Given the description of an element on the screen output the (x, y) to click on. 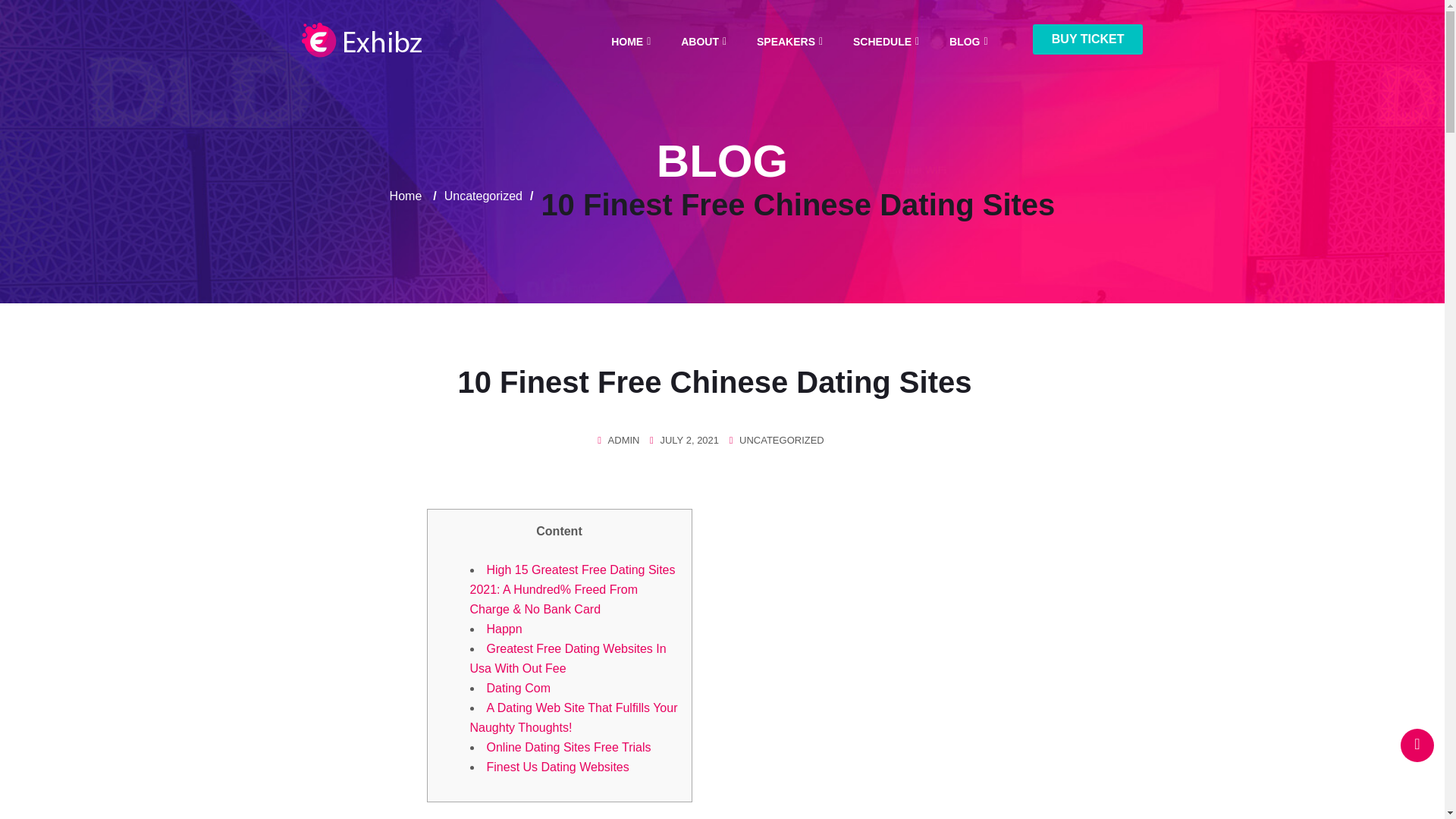
SPEAKERS (785, 41)
UNCATEGORIZED (781, 439)
BUY TICKET (1087, 39)
ADMIN (624, 439)
SCHEDULE (881, 41)
Home (406, 195)
